Given the description of an element on the screen output the (x, y) to click on. 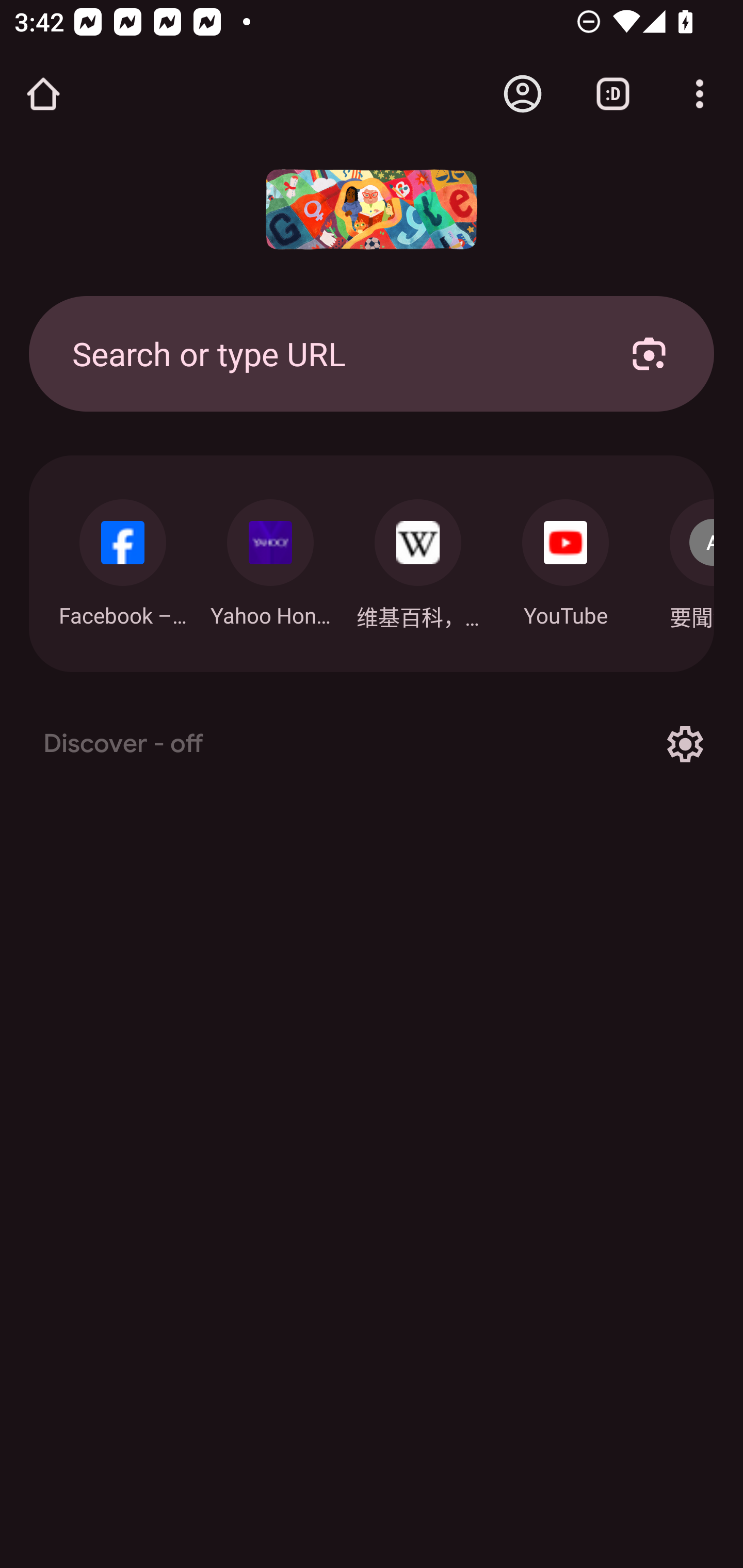
Open the home page (43, 93)
Switch or close tabs (612, 93)
Customize and control Google Chrome (699, 93)
Google doodle: 2024 年國際婦女節 (371, 209)
Search or type URL (327, 353)
Search with your camera using Google Lens (648, 353)
Navigate: YouTube: m.youtube.com YouTube (565, 558)
Options for Discover (684, 743)
